Given the description of an element on the screen output the (x, y) to click on. 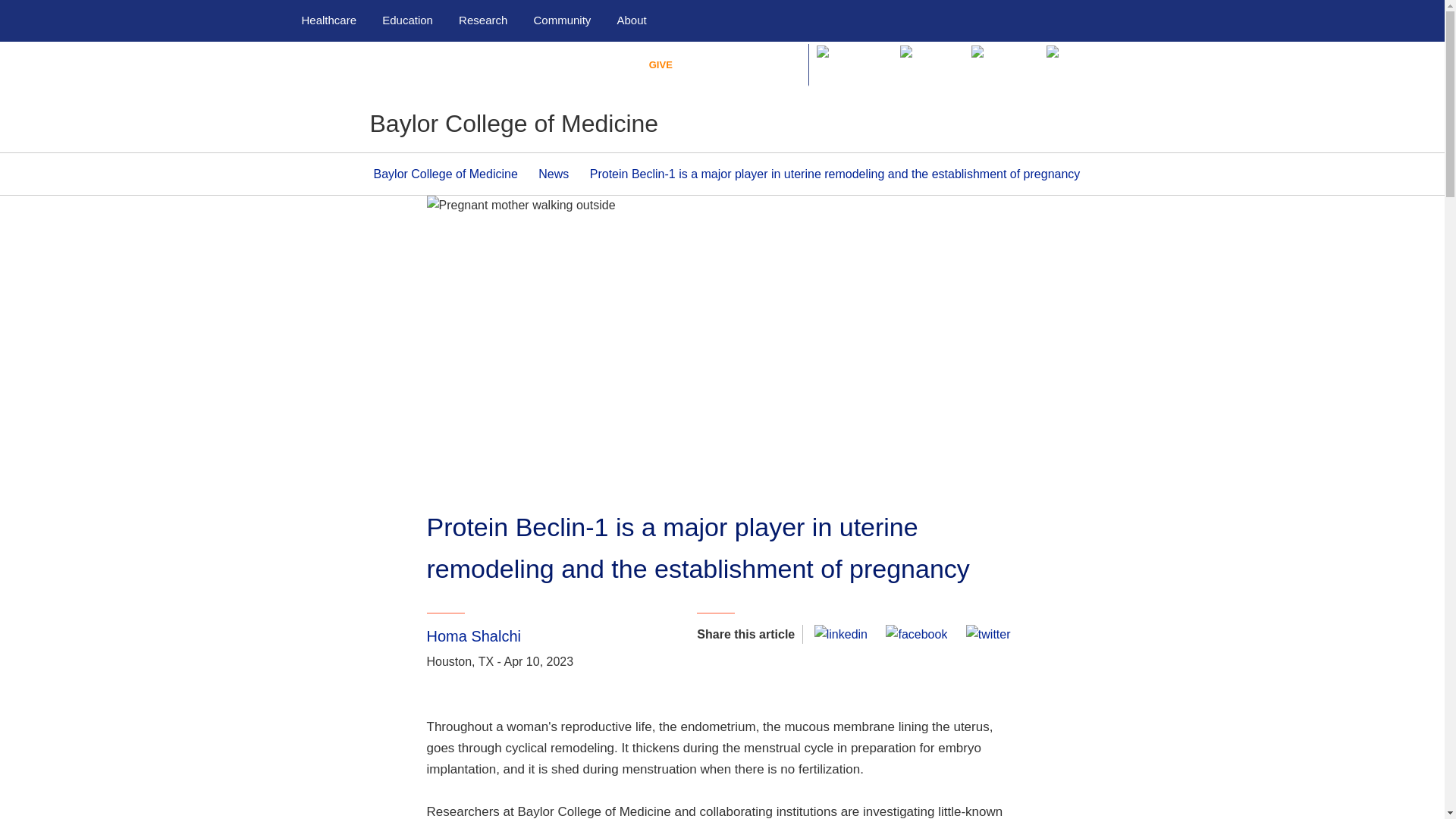
Healthcare (328, 19)
News (553, 173)
Baylor College of Medicine (444, 173)
Education (406, 19)
